Given the description of an element on the screen output the (x, y) to click on. 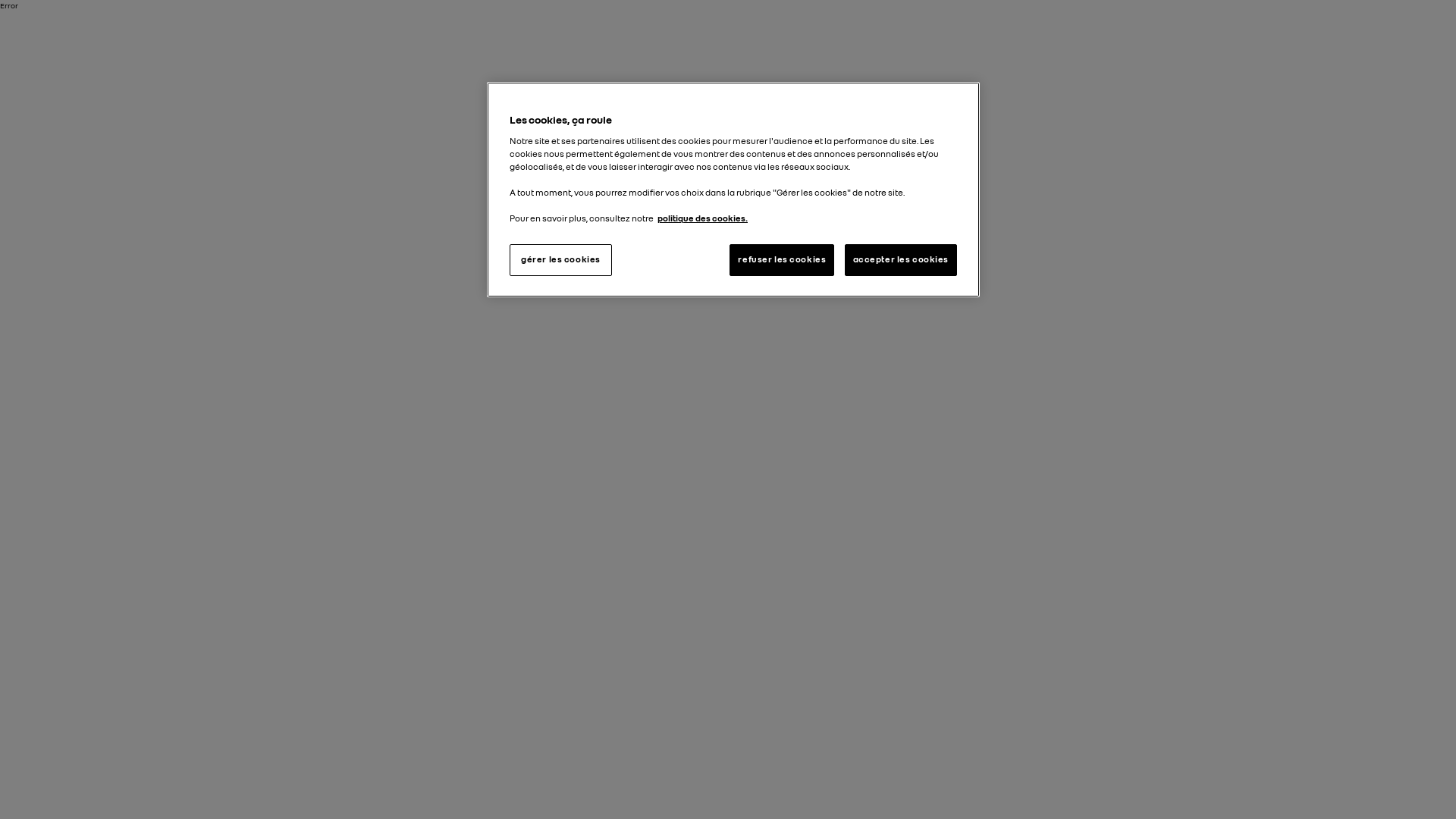
politique des cookies. Element type: text (702, 218)
refuser les cookies Element type: text (781, 260)
accepter les cookies Element type: text (900, 260)
